Given the description of an element on the screen output the (x, y) to click on. 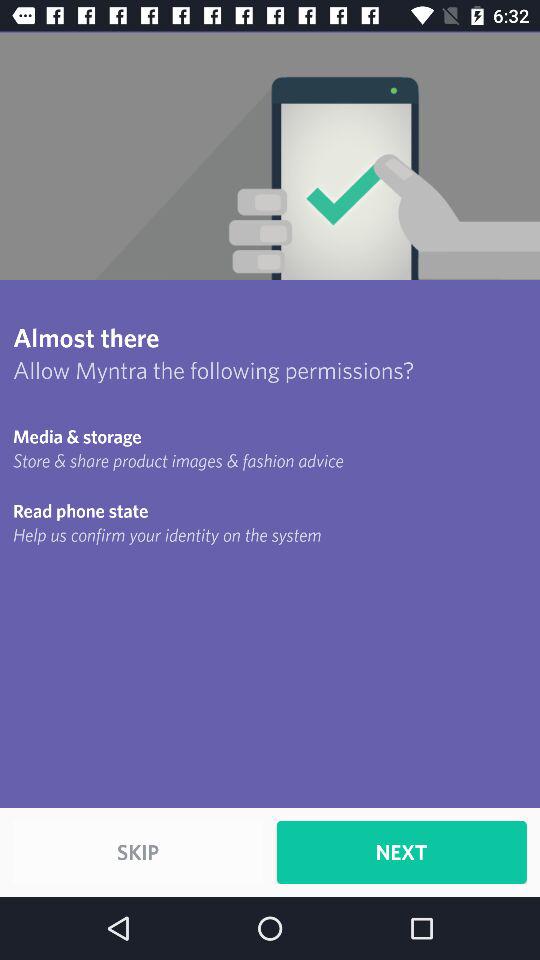
launch icon next to the skip icon (401, 851)
